Given the description of an element on the screen output the (x, y) to click on. 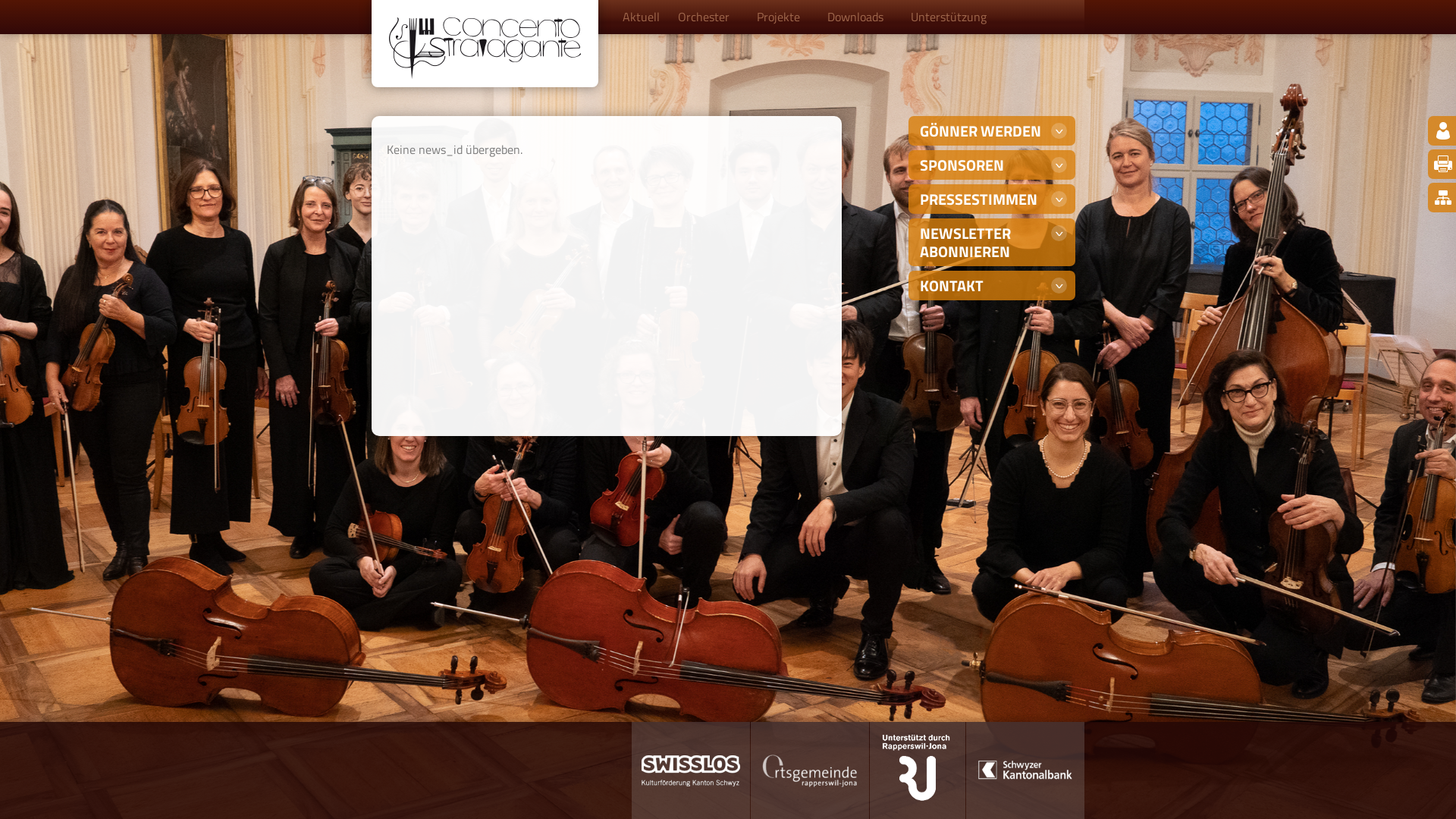
Aktuell Element type: text (640, 17)
NEWSLETTER ABONNIEREN
  Element type: text (991, 242)
Concerto Stravagante Element type: text (484, 47)
KONTAKT
  Element type: text (991, 285)
Ortsgemeinde Rapperswil Element type: hover (809, 770)
Schwyzer Kantonalbank Element type: hover (1024, 770)
PRESSESTIMMEN
  Element type: text (991, 198)
Downloads Element type: text (859, 17)
Orchester Element type: text (707, 17)
Projekte Element type: text (782, 17)
Kulturkommission Kanton Schwyz Element type: hover (690, 770)
SPONSOREN
  Element type: text (991, 164)
